Given the description of an element on the screen output the (x, y) to click on. 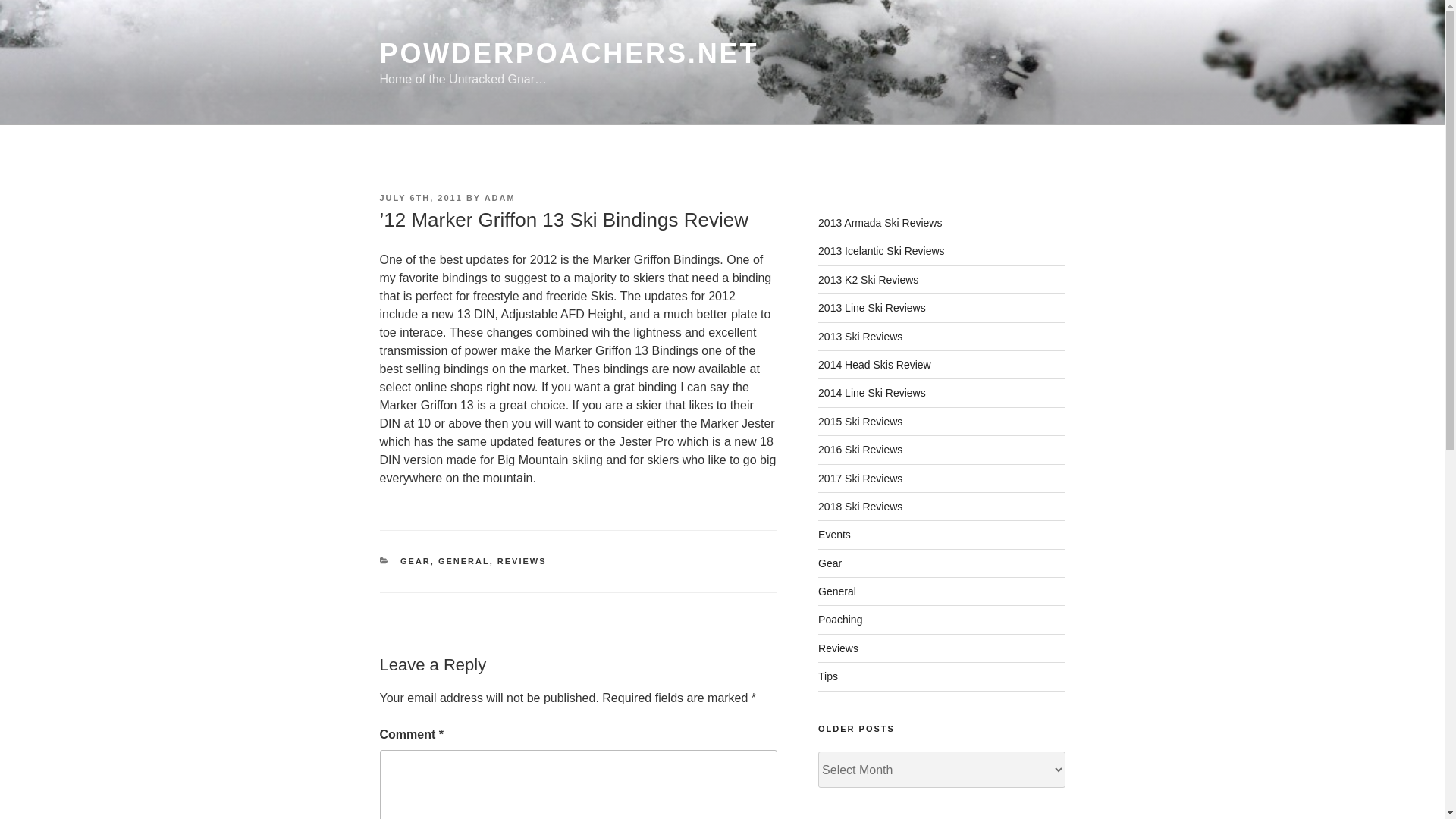
ADAM (499, 197)
General (837, 591)
Gear (829, 563)
Poaching (839, 619)
2016 Ski Reviews (860, 449)
Reviews (838, 648)
2013 Icelantic Ski Reviews (881, 250)
2014 Head Skis Review (874, 364)
2013 Line Ski Reviews (872, 307)
2013 K2 Ski Reviews (868, 279)
